Given the description of an element on the screen output the (x, y) to click on. 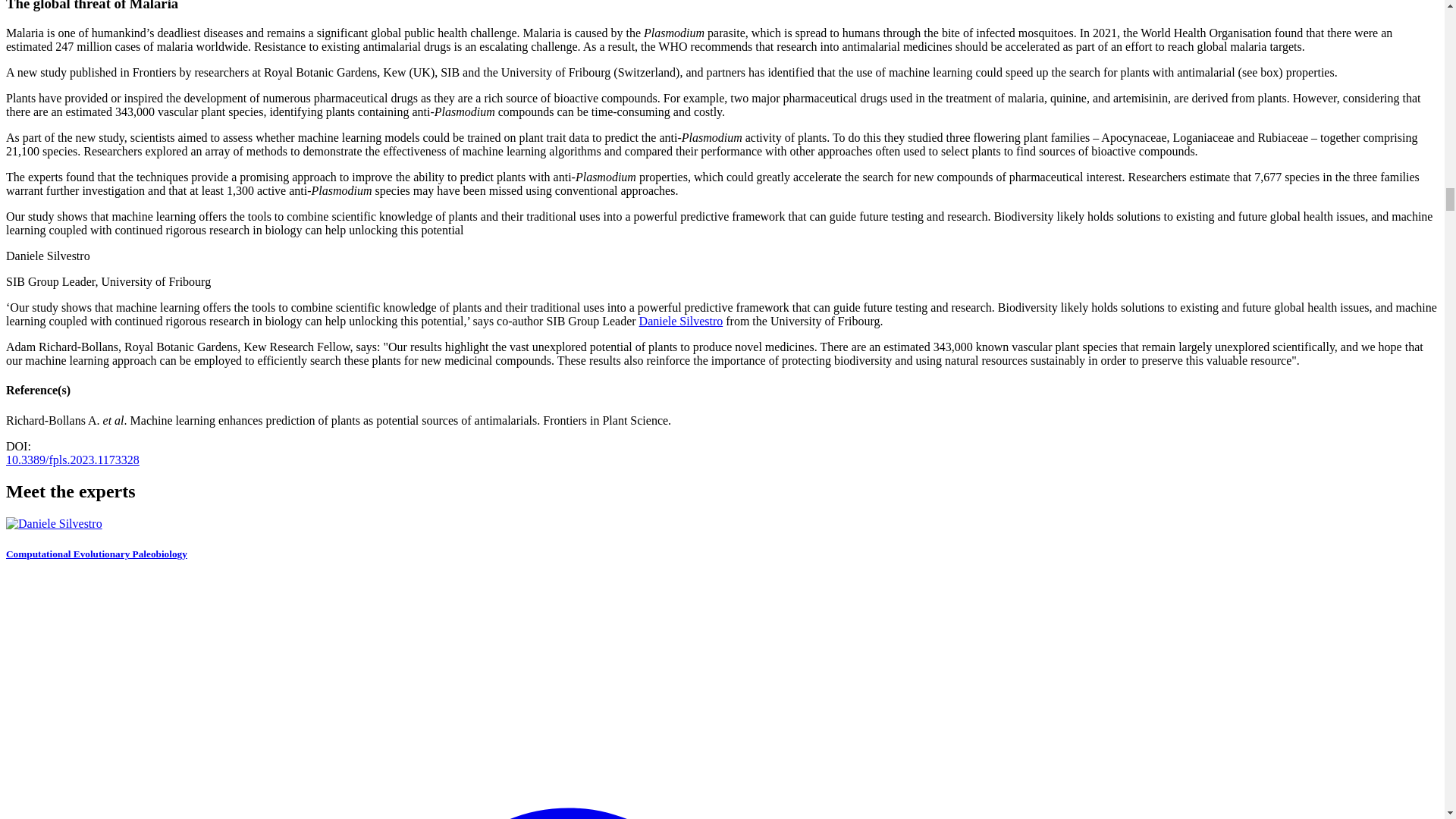
Computational Evolutionary Paleobiology (681, 320)
